Given the description of an element on the screen output the (x, y) to click on. 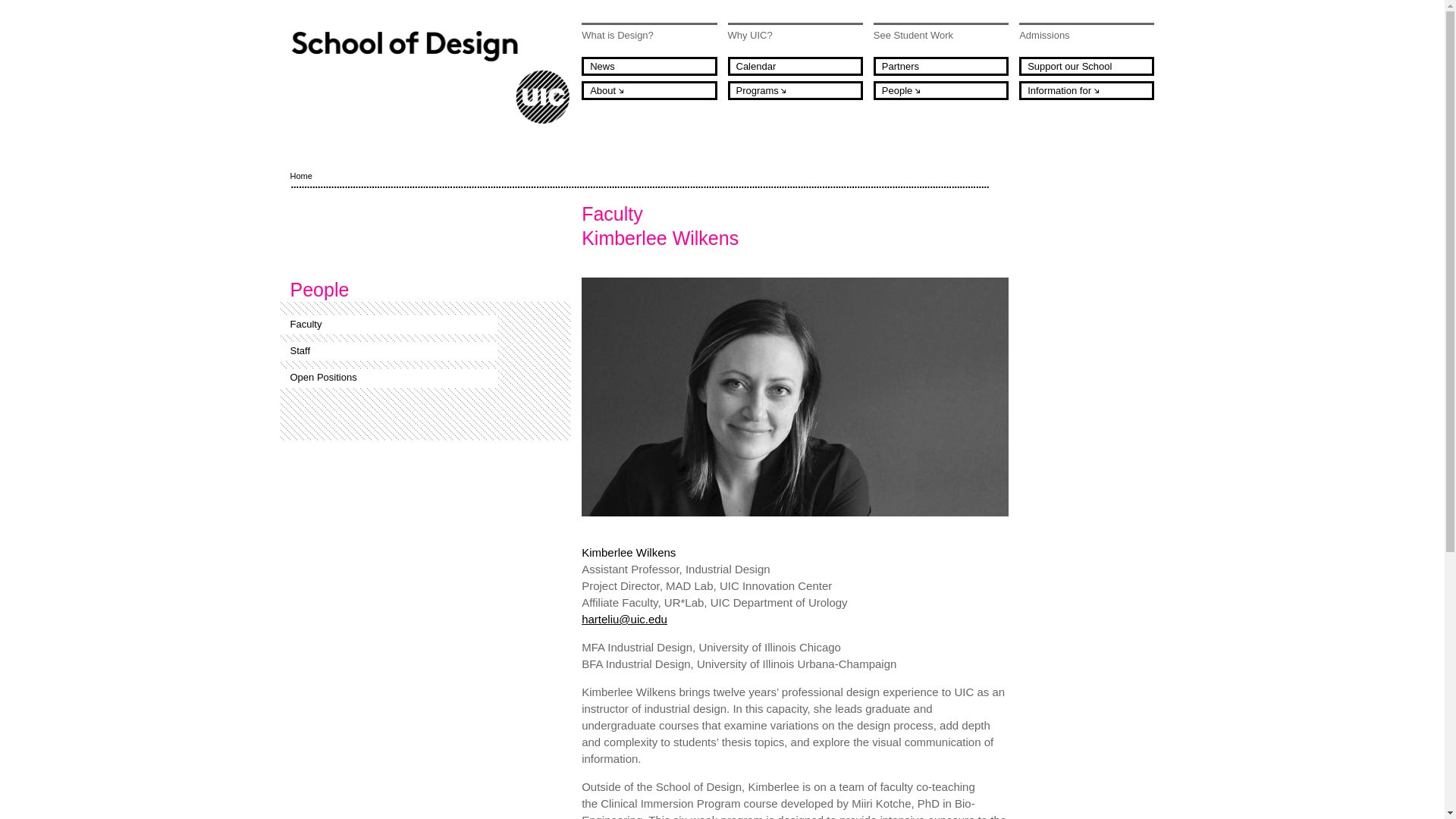
Open Positions (390, 377)
Why UIC? (795, 33)
Calendar (795, 66)
Faculty (390, 324)
See Student Work (941, 33)
Partners (941, 66)
About (648, 90)
Admissions (1086, 33)
Support our School (1086, 66)
Home (429, 77)
What is Design? (648, 33)
People (941, 90)
Programs (795, 90)
Information for (1086, 90)
UIC - School of Design (429, 77)
